Given the description of an element on the screen output the (x, y) to click on. 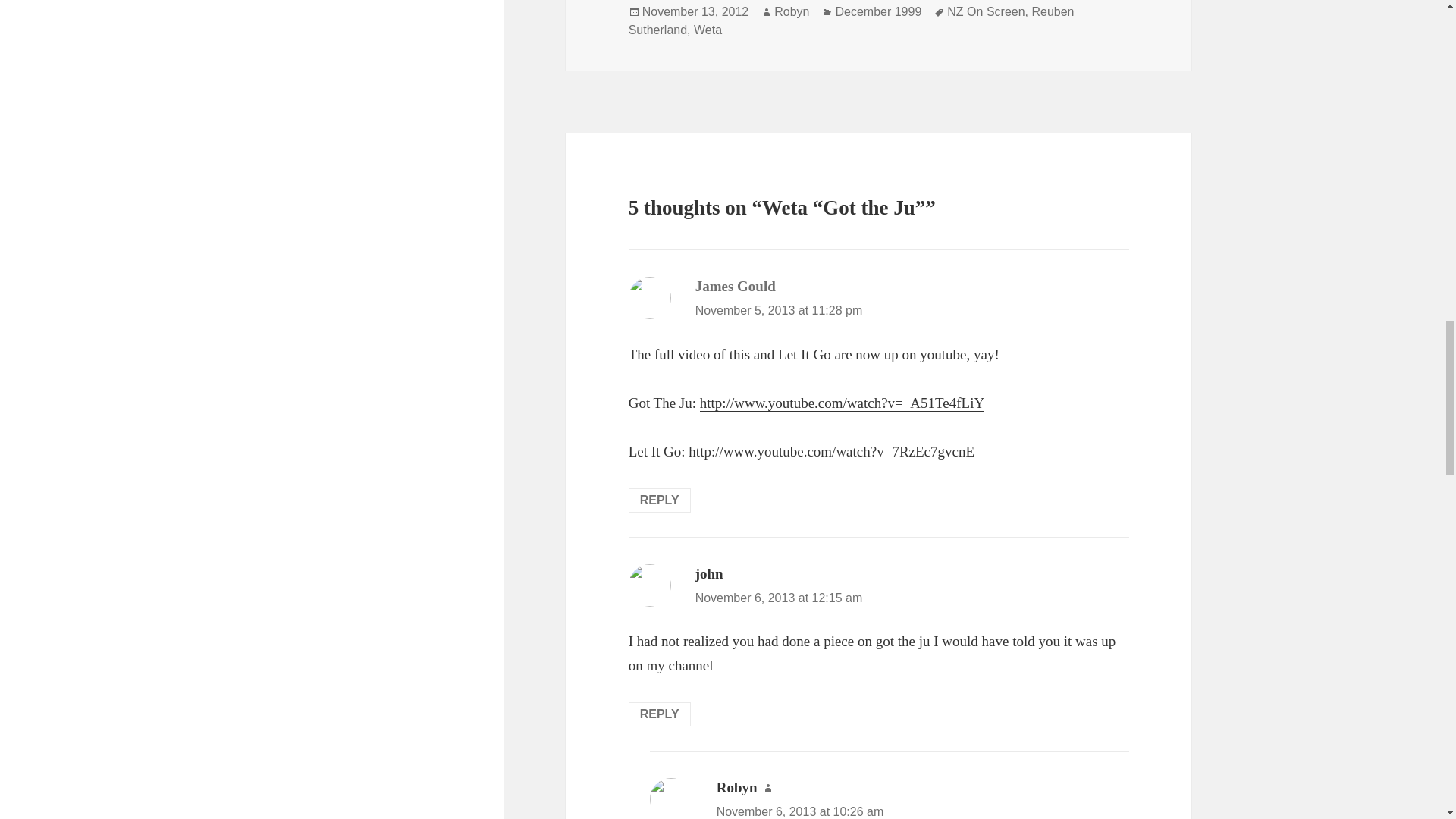
November 13, 2012 (695, 11)
Robyn (791, 11)
REPLY (659, 713)
Weta (708, 29)
November 6, 2013 at 12:15 am (779, 597)
December 1999 (877, 11)
November 5, 2013 at 11:28 pm (779, 309)
Robyn (736, 787)
NZ On Screen (986, 11)
REPLY (659, 500)
November 6, 2013 at 10:26 am (799, 811)
john (709, 573)
Reuben Sutherland (851, 20)
